Given the description of an element on the screen output the (x, y) to click on. 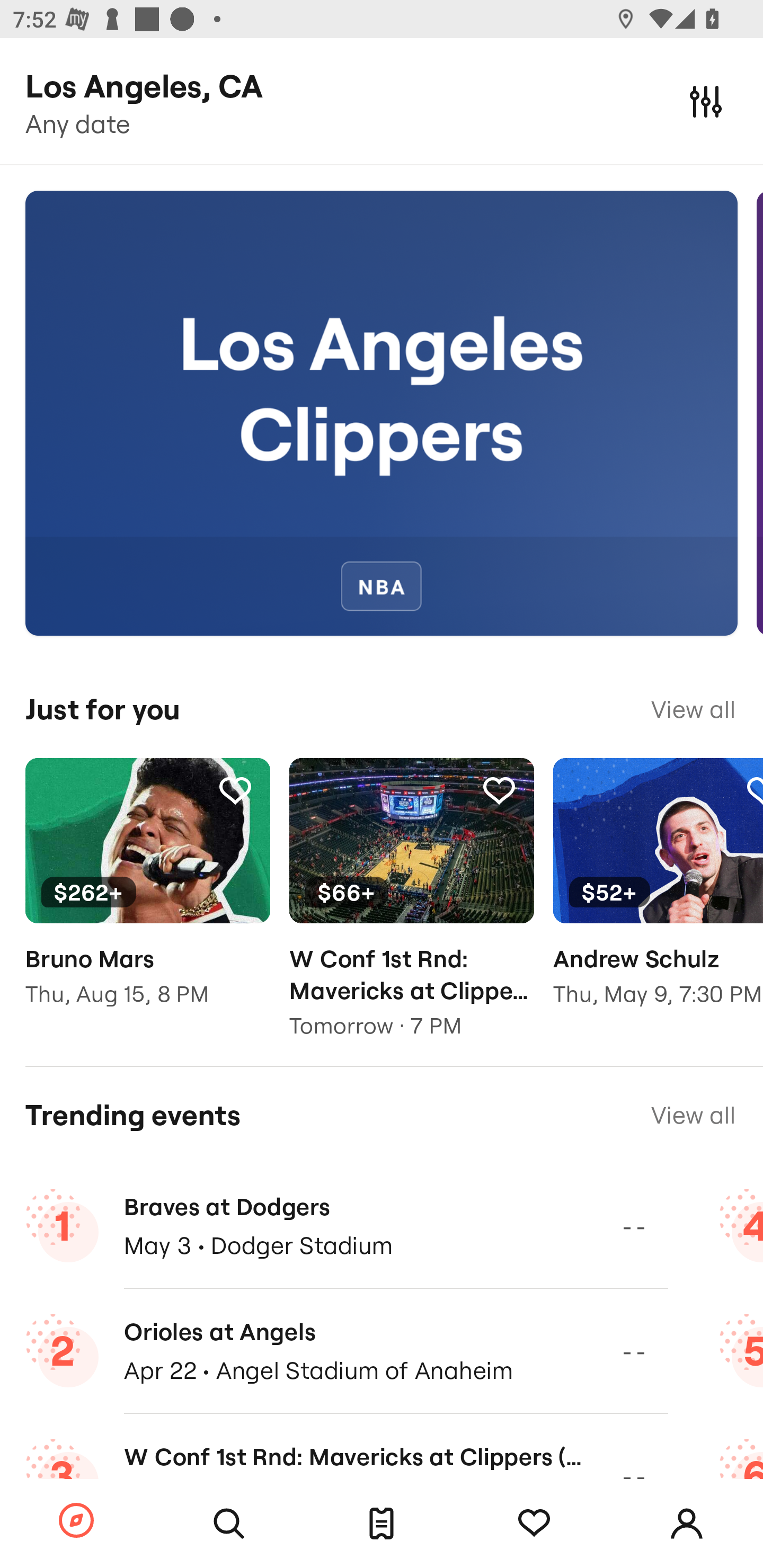
Filters (705, 100)
View all (693, 709)
Tracking $262+ Bruno Mars Thu, Aug 15, 8 PM (147, 895)
Tracking $52+ Andrew Schulz Thu, May 9, 7:30 PM (658, 895)
Tracking (234, 790)
Tracking (498, 790)
View all (693, 1114)
Browse (76, 1521)
Search (228, 1523)
Tickets (381, 1523)
Tracking (533, 1523)
Account (686, 1523)
